Given the description of an element on the screen output the (x, y) to click on. 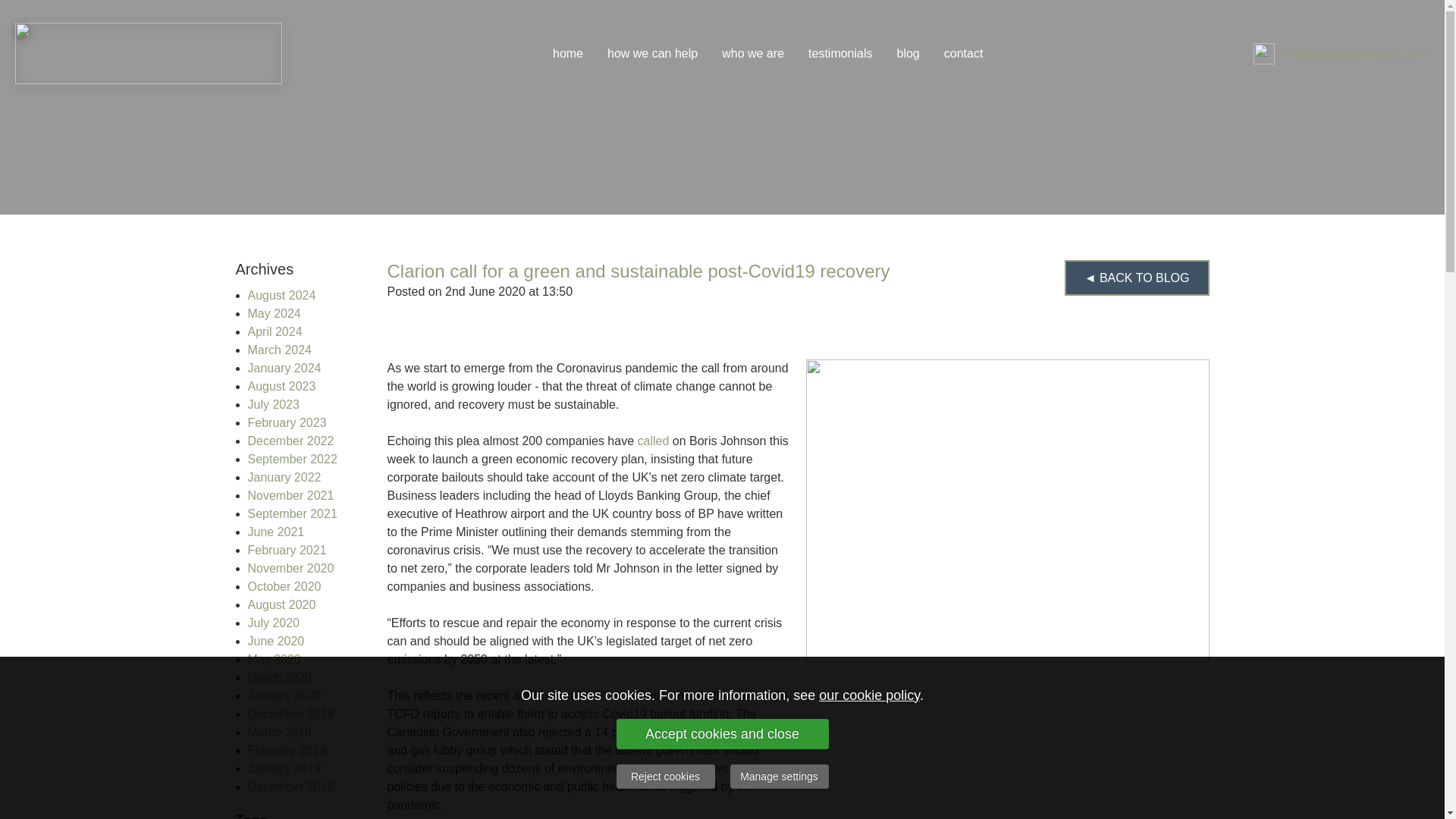
testimonials (839, 52)
August 2024 (281, 295)
January 2022 (283, 477)
November 2021 (290, 495)
BACK TO BLOG (1136, 277)
January 2024 (283, 367)
August 2023 (281, 386)
September 2021 (291, 513)
home (567, 52)
July 2023 (273, 404)
